Given the description of an element on the screen output the (x, y) to click on. 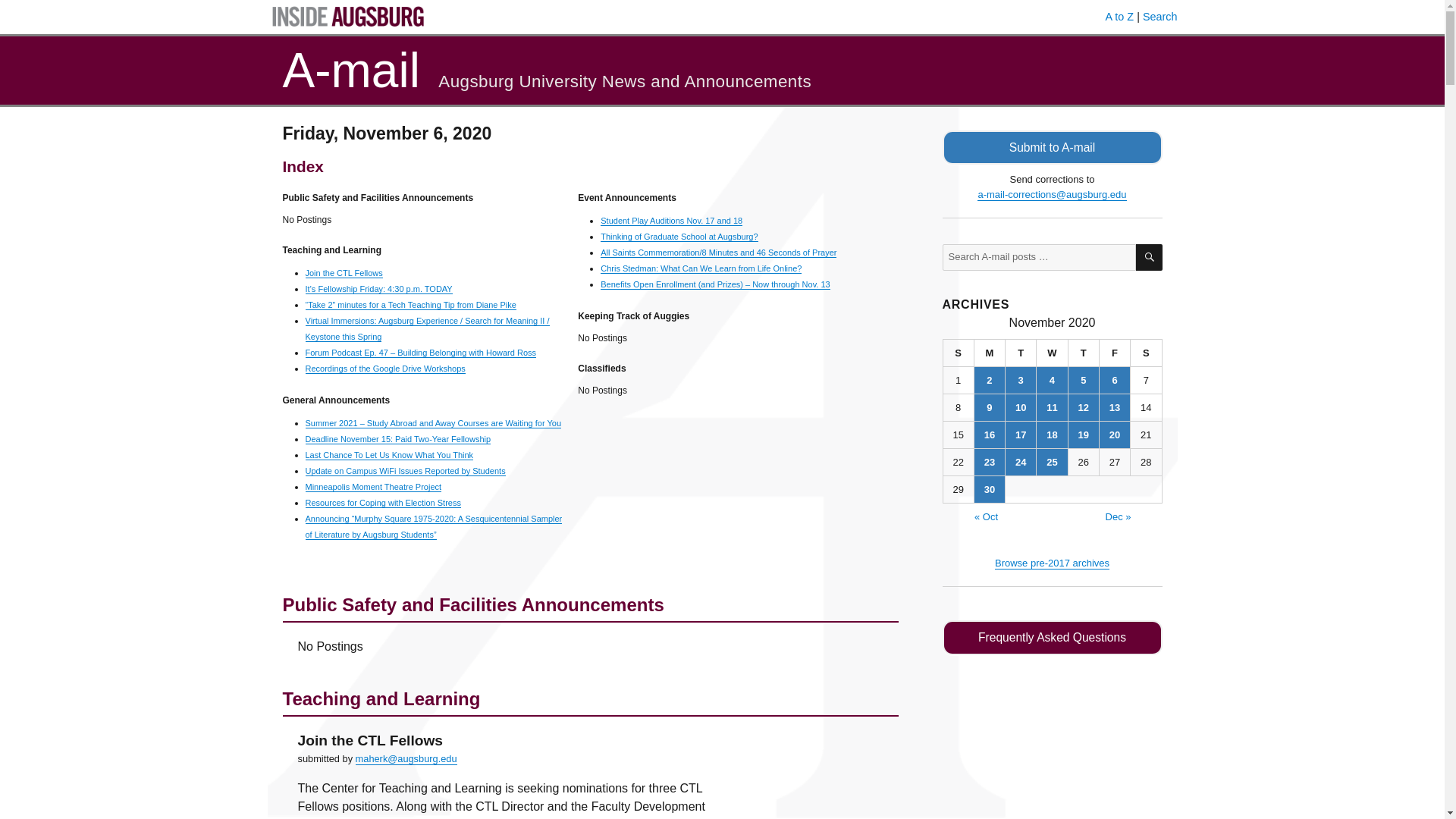
A-mail (350, 70)
Recordings of the Google Drive Workshops (384, 368)
Wednesday (1051, 352)
Teaching and Learning (590, 751)
A to Z (1119, 16)
Student Play Auditions Nov. 17 and 18 (670, 220)
Minneapolis Moment Theatre Project (372, 486)
Join the CTL Fellows (369, 740)
Friday (1115, 352)
Thursday (1083, 352)
